Given the description of an element on the screen output the (x, y) to click on. 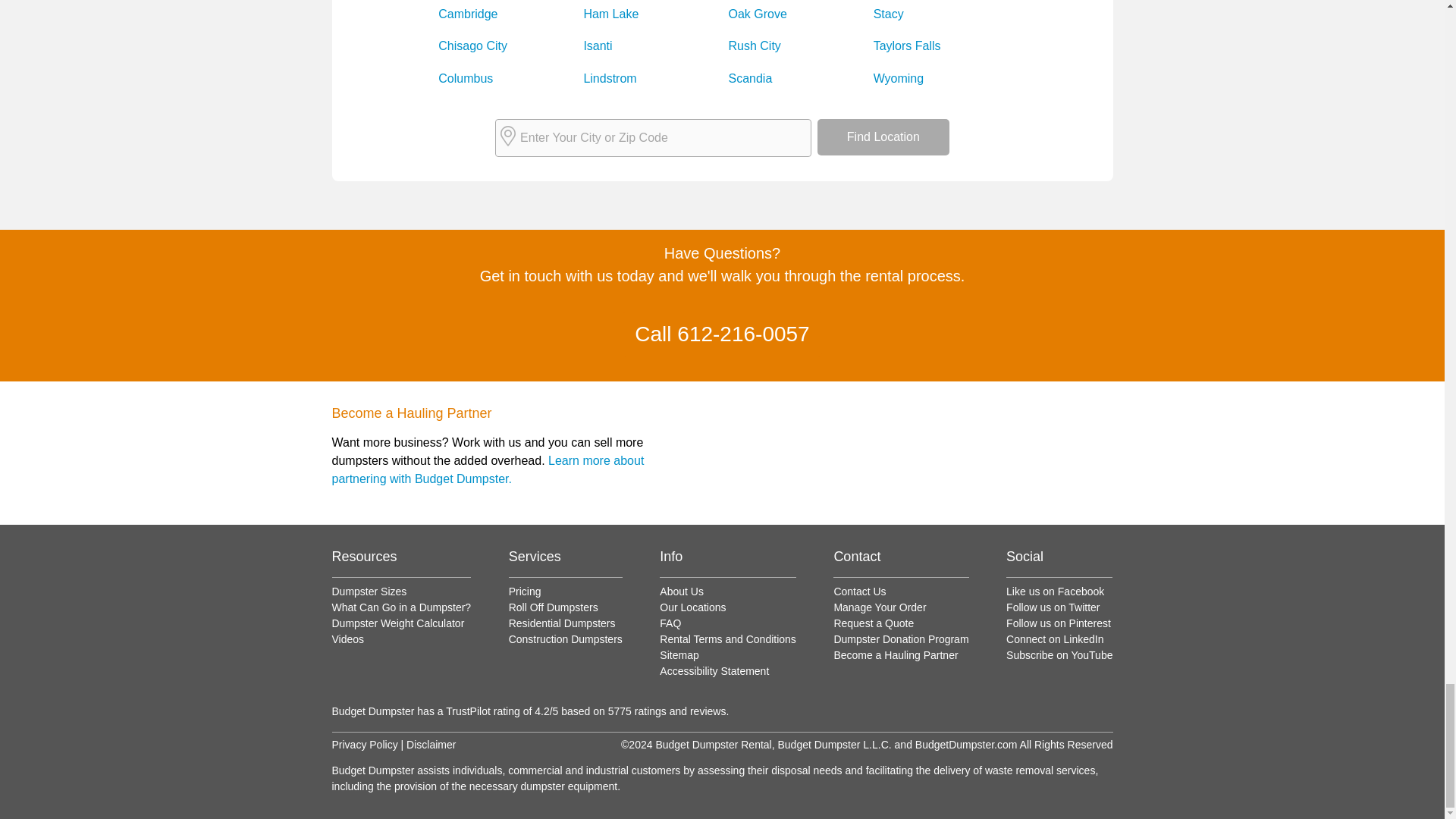
disclaimer (364, 744)
disclaimer (430, 744)
